Given the description of an element on the screen output the (x, y) to click on. 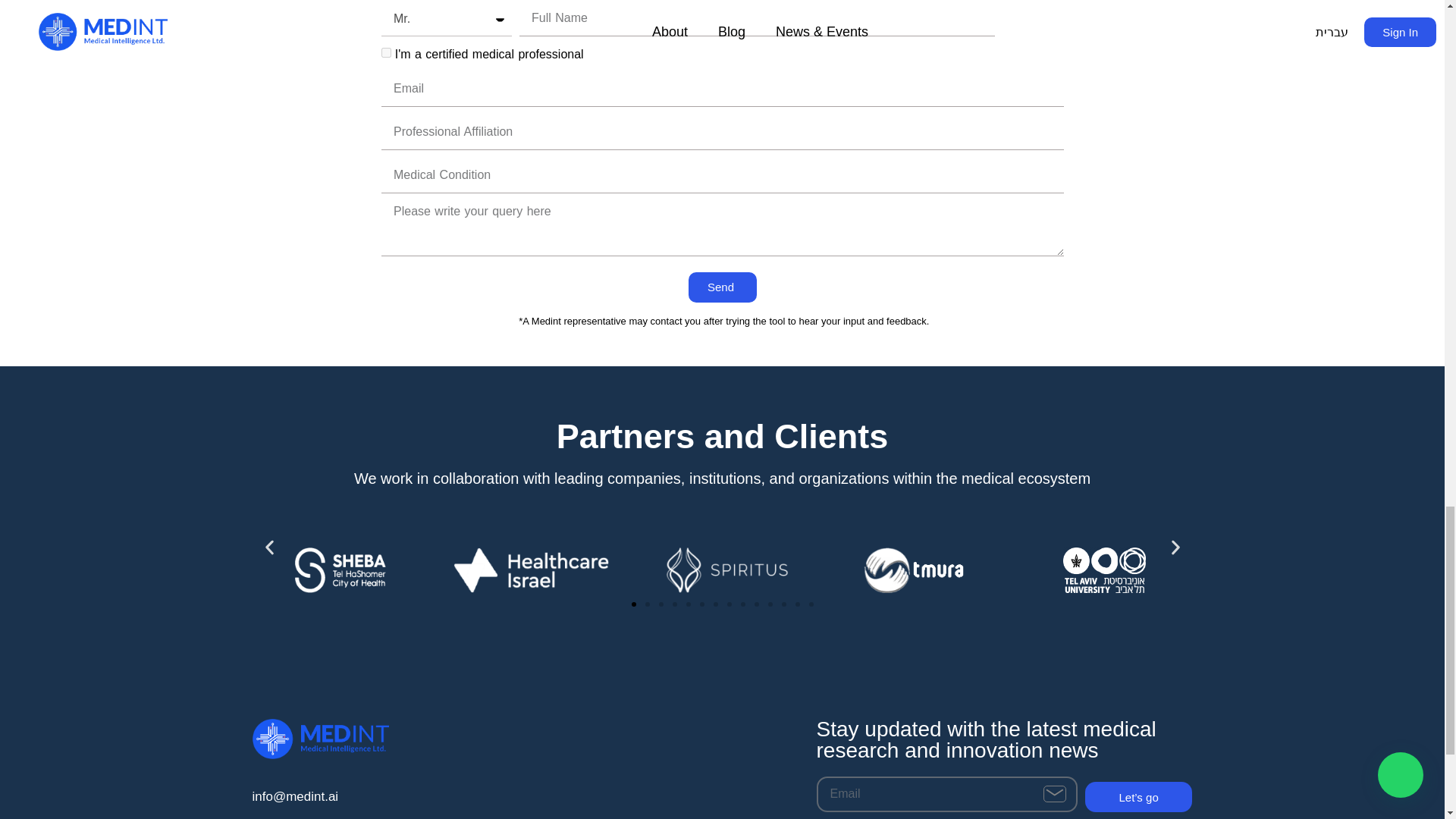
Send (721, 286)
on (385, 53)
